Given the description of an element on the screen output the (x, y) to click on. 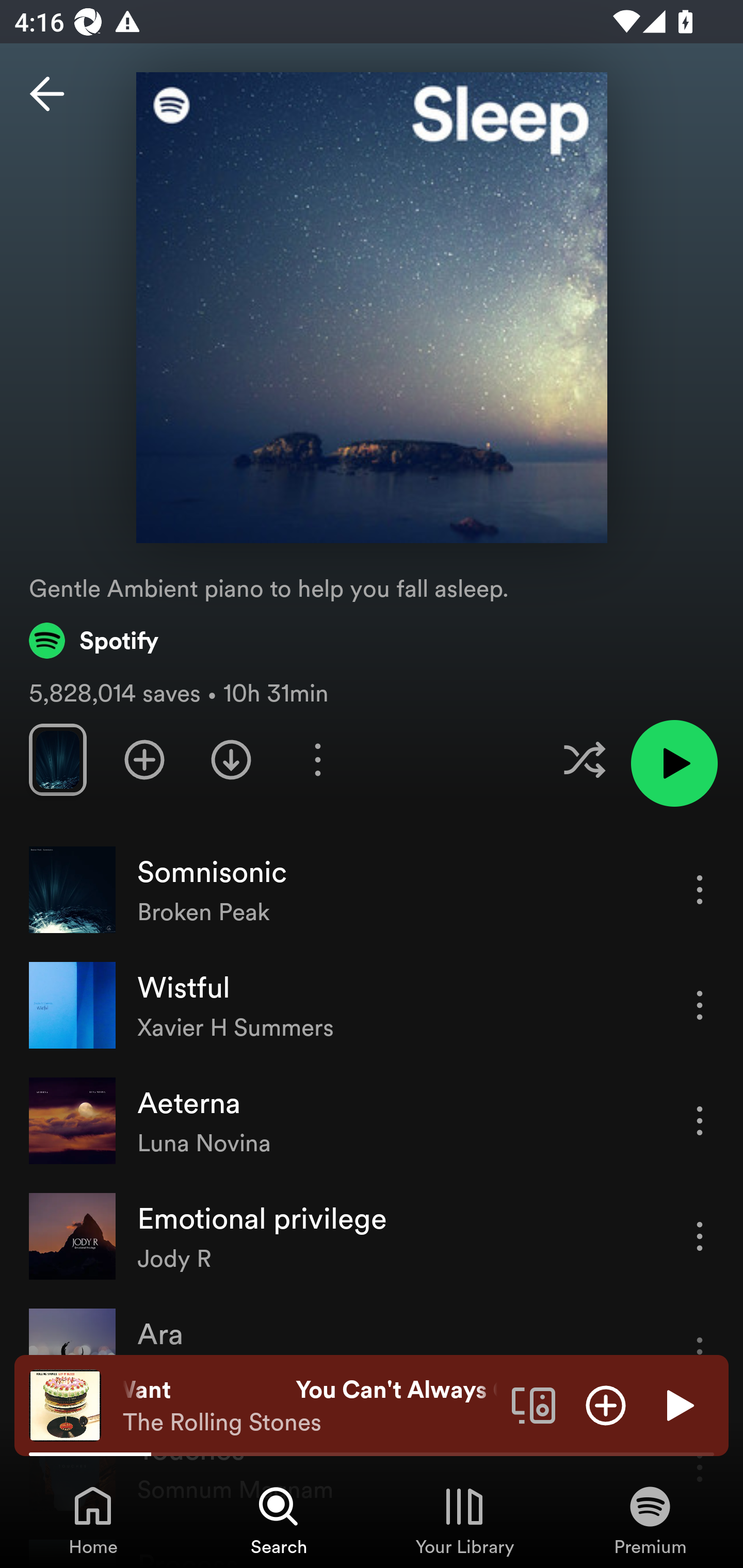
Back (46, 93)
Spotify (93, 640)
Swipe through previews of tracks in this playlist. (57, 759)
Add playlist to Your Library (144, 759)
Download (230, 759)
More options for playlist Sleep (317, 759)
Enable shuffle for this playlist (583, 759)
Play playlist (674, 763)
More options for song Somnisonic (699, 889)
More options for song Wistful (699, 1004)
Aeterna Luna Novina More options for song Aeterna (371, 1121)
More options for song Aeterna (699, 1120)
More options for song Emotional privilege (699, 1236)
Ara Placidous More options for song Ara (371, 1351)
The cover art of the currently playing track (64, 1404)
Connect to a device. Opens the devices menu (533, 1404)
Add item (605, 1404)
Play (677, 1404)
Home, Tab 1 of 4 Home Home (92, 1519)
Search, Tab 2 of 4 Search Search (278, 1519)
Your Library, Tab 3 of 4 Your Library Your Library (464, 1519)
Premium, Tab 4 of 4 Premium Premium (650, 1519)
